Given the description of an element on the screen output the (x, y) to click on. 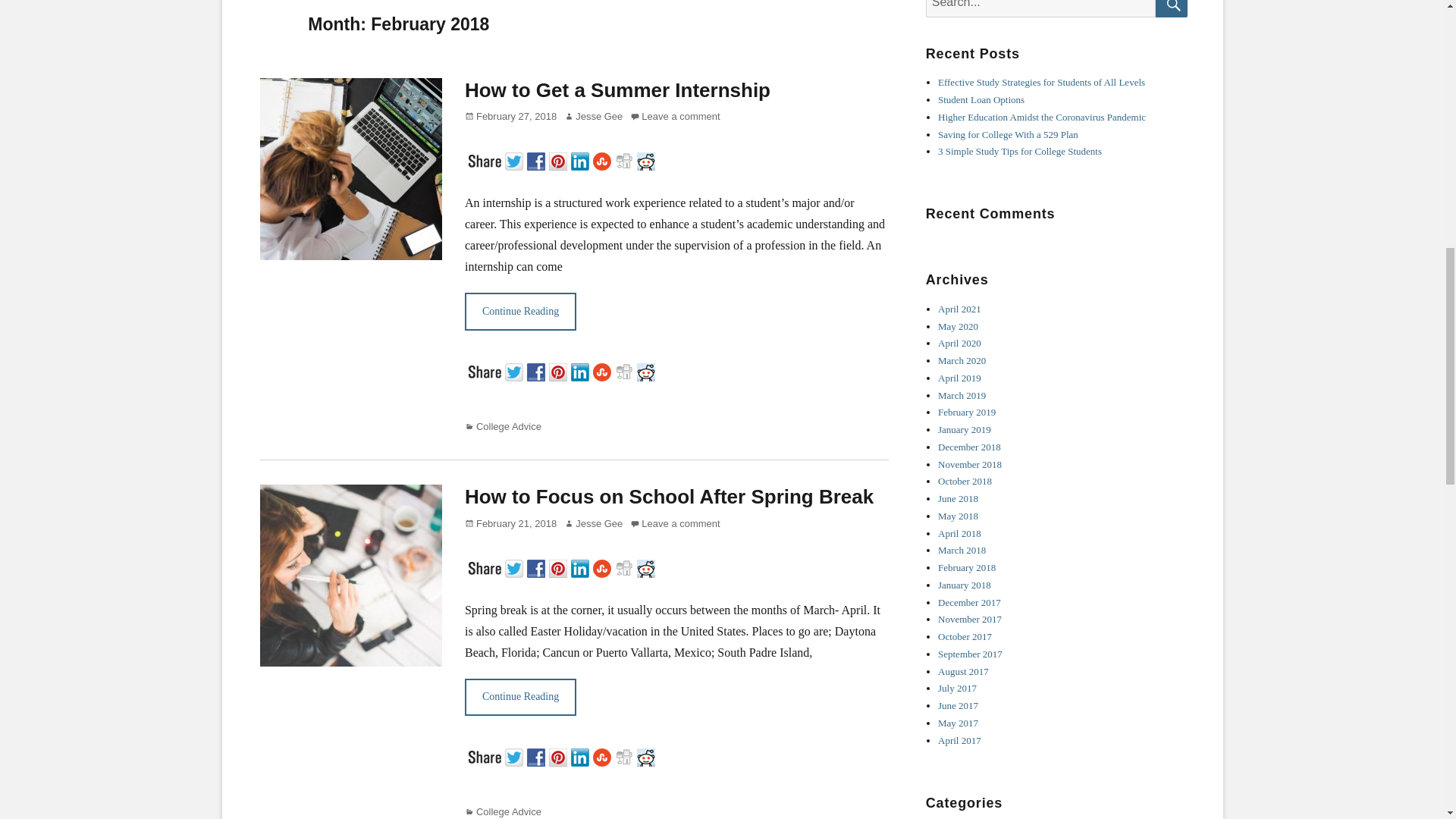
Leave a comment (674, 523)
Pinterest (559, 370)
Digg (625, 159)
StumbleUpon (603, 370)
February 27, 2018 (510, 116)
Linkedin (581, 370)
Jesse Gee (593, 116)
Digg (625, 370)
Facebook (537, 370)
Linkedin (581, 159)
Twitter (516, 370)
February 21, 2018 (510, 523)
How to Get a Summer Internship (617, 89)
How to Focus on School After Spring Break (668, 496)
StumbleUpon (603, 159)
